Given the description of an element on the screen output the (x, y) to click on. 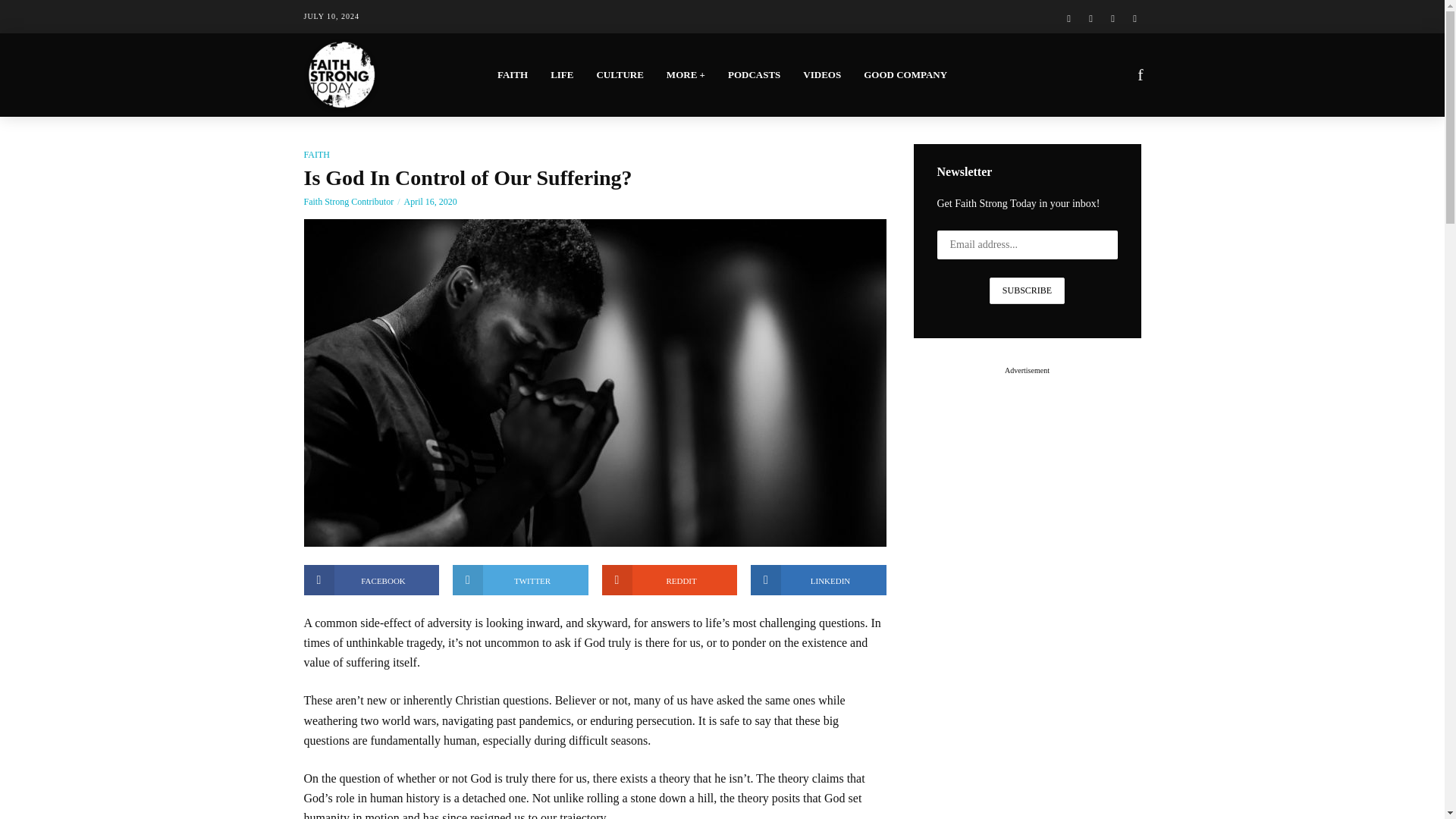
LIFE (561, 74)
Subscribe (1027, 290)
FAITH (512, 74)
CULTURE (619, 74)
